Given the description of an element on the screen output the (x, y) to click on. 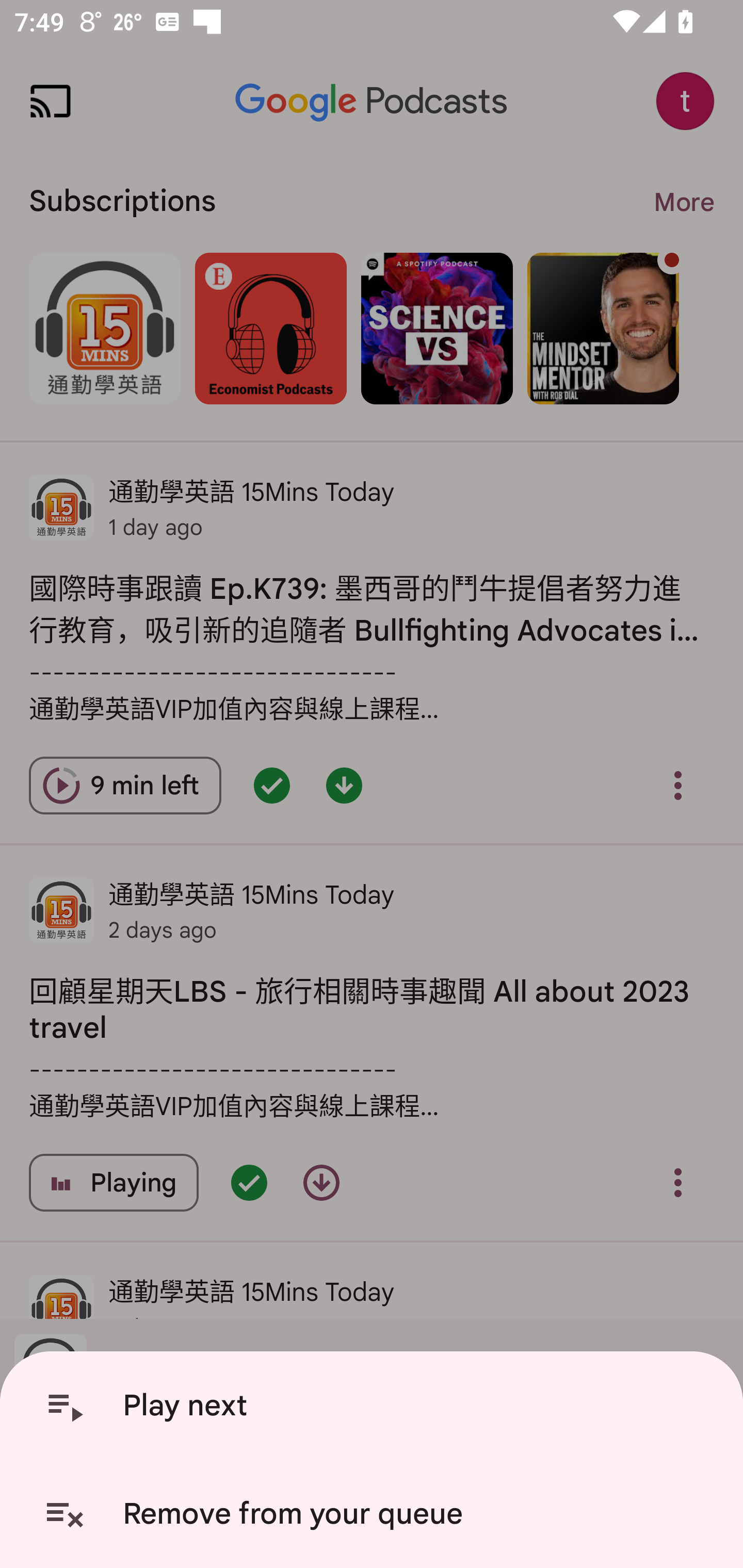
Play next (375, 1405)
Remove from your queue (375, 1513)
